Given the description of an element on the screen output the (x, y) to click on. 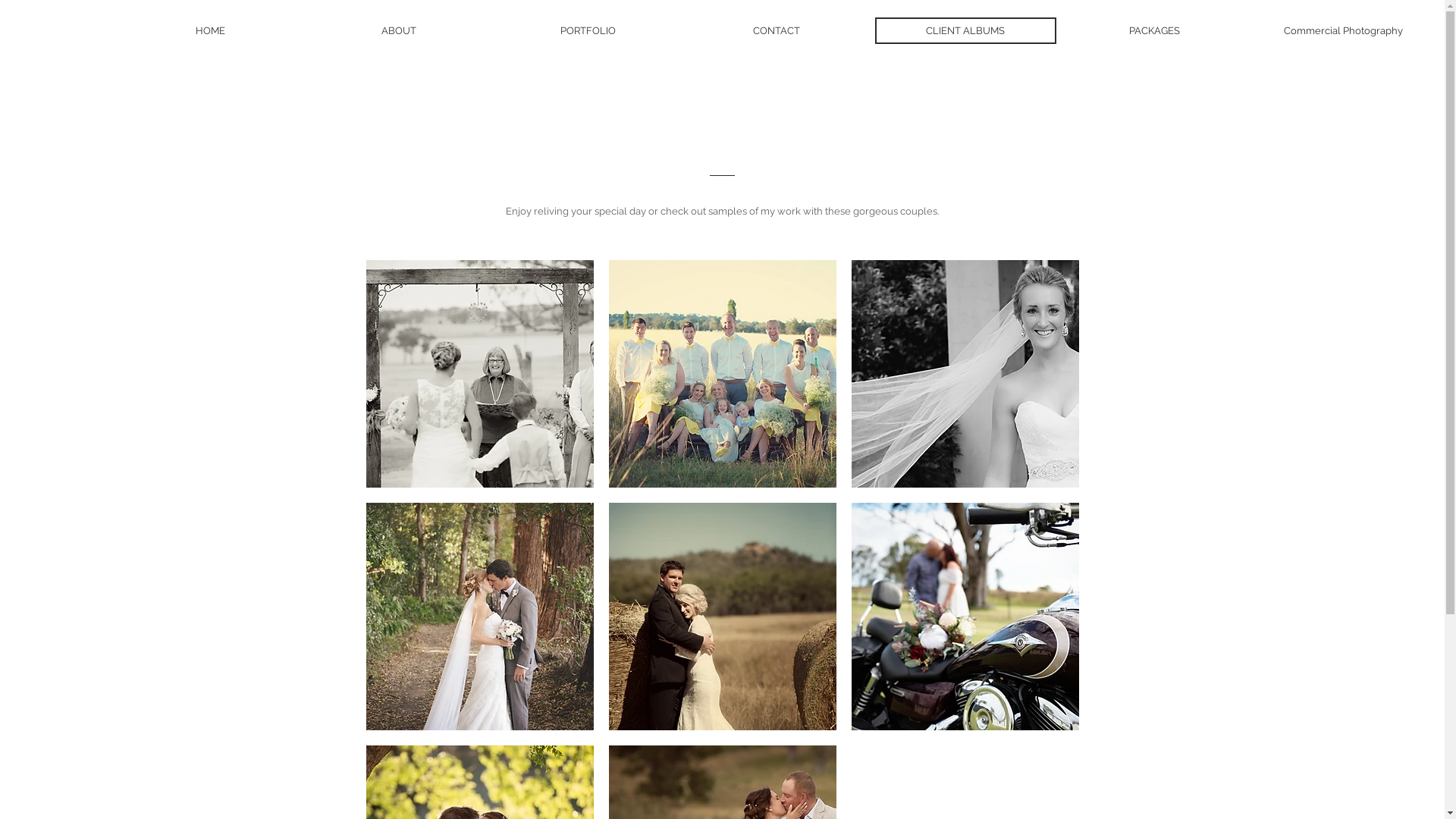
Commercial Photography Element type: text (1343, 30)
CONTACT Element type: text (775, 30)
PACKAGES Element type: text (1153, 30)
ABOUT Element type: text (398, 30)
PORTFOLIO Element type: text (587, 30)
HOME Element type: text (210, 30)
CLIENT ALBUMS Element type: text (965, 30)
